Given the description of an element on the screen output the (x, y) to click on. 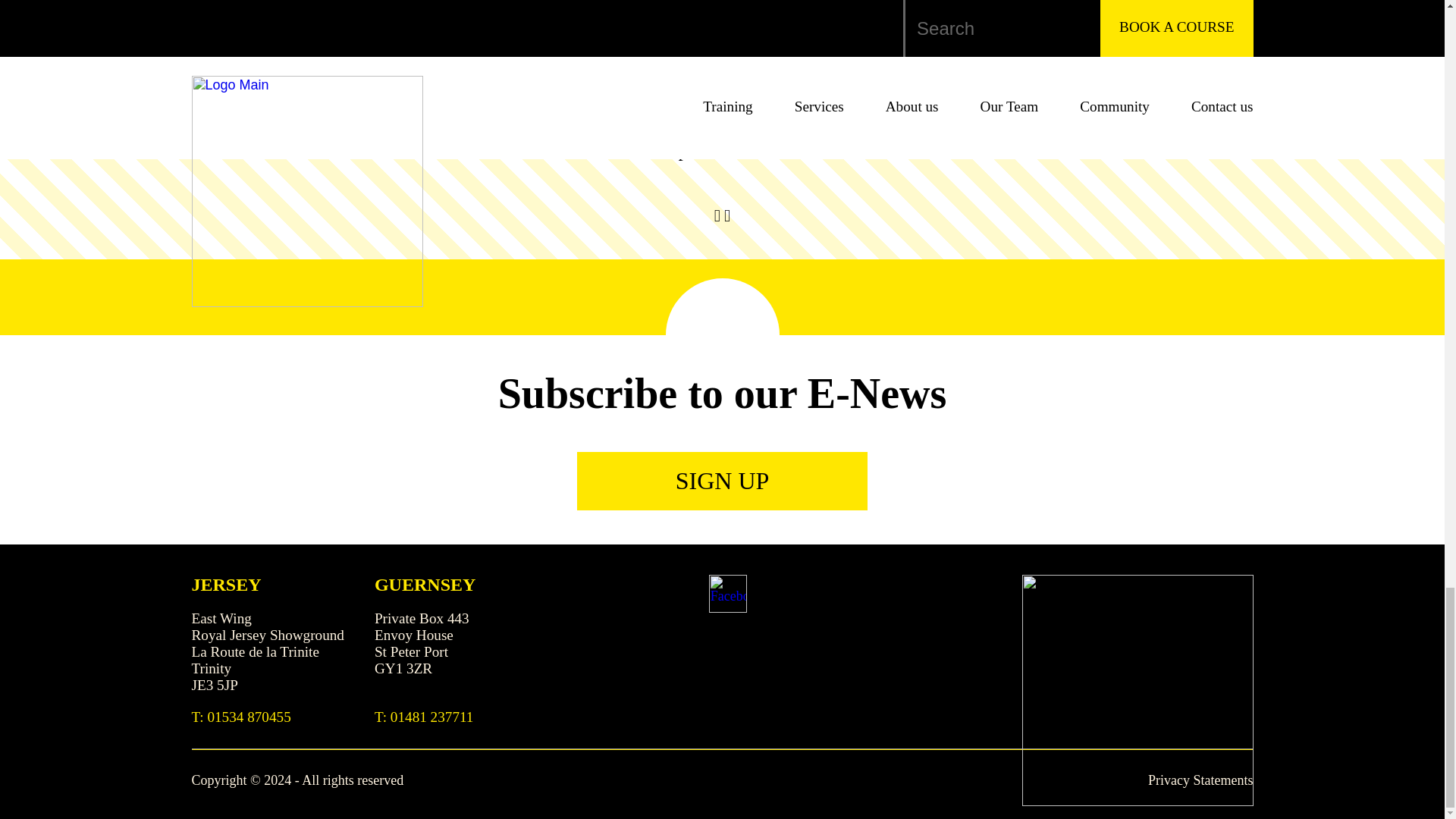
Privacy Statements (1200, 780)
SIGN UP (721, 481)
